Given the description of an element on the screen output the (x, y) to click on. 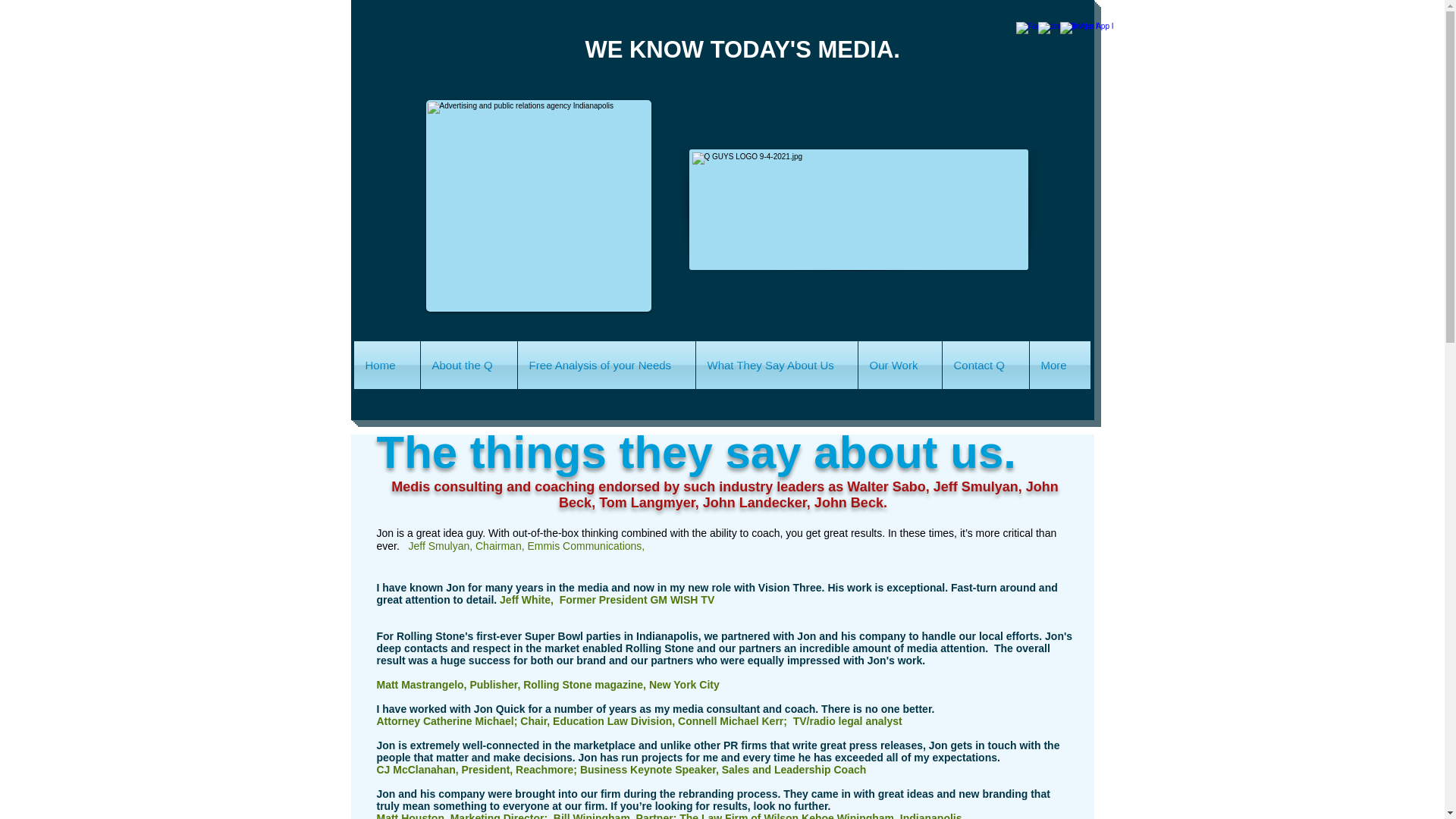
About the Q (468, 365)
Free Analysis of your Needs (605, 365)
Contact Q (984, 365)
What They Say About Us (776, 365)
QPR NEW logo V 1  3916.jpg (538, 205)
Home (386, 365)
Our Work (900, 365)
